Given the description of an element on the screen output the (x, y) to click on. 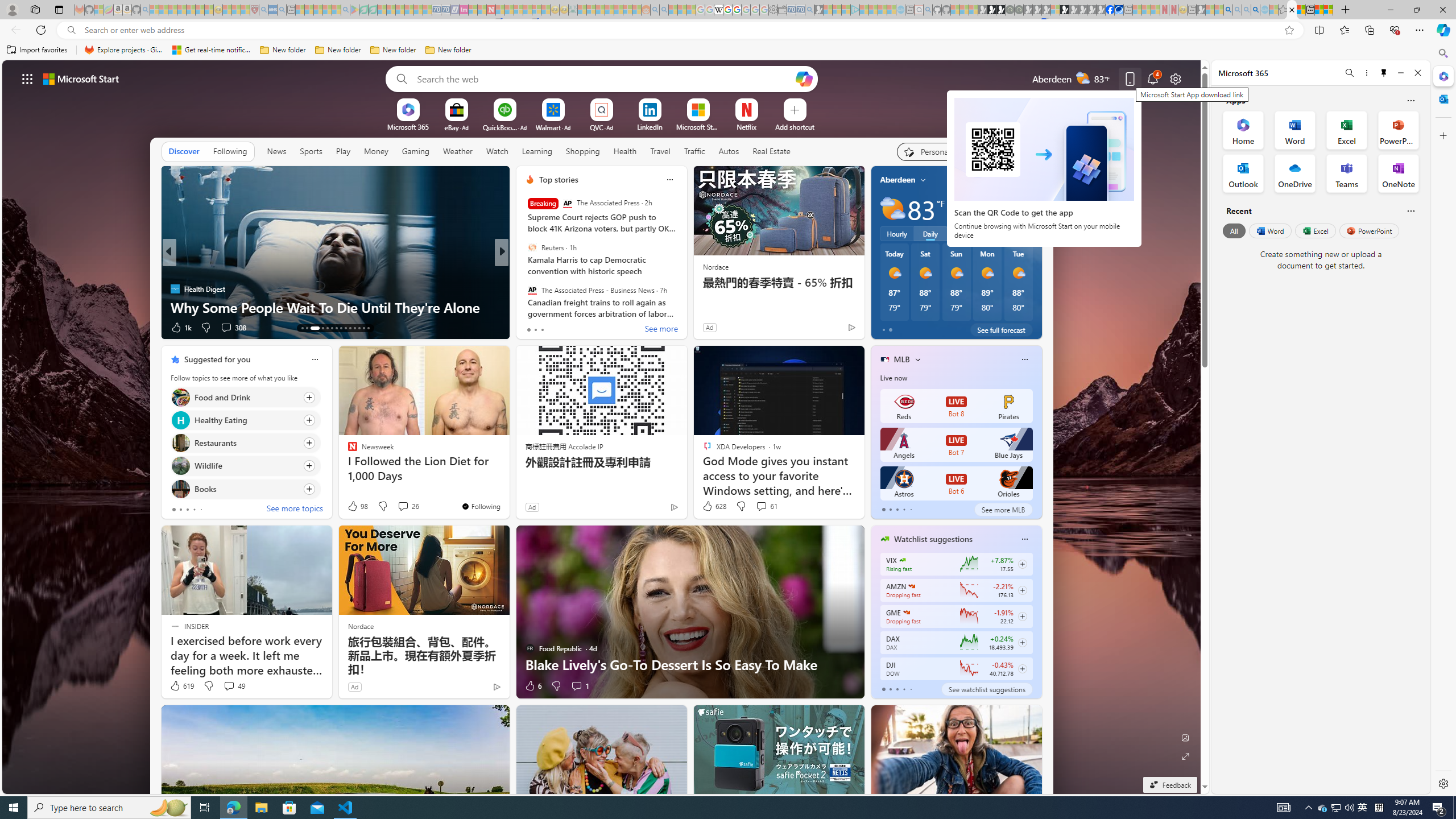
See watchlist suggestions (986, 689)
AutomationID: tab-15 (314, 328)
github - Search - Sleeping (927, 9)
AutomationID: tab-20 (340, 328)
